Given the description of an element on the screen output the (x, y) to click on. 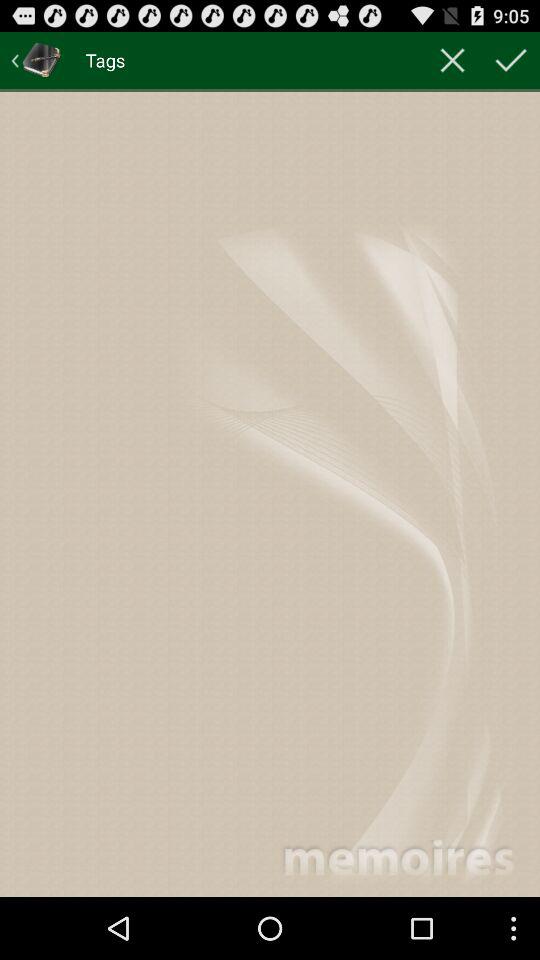
accept (511, 60)
